Given the description of an element on the screen output the (x, y) to click on. 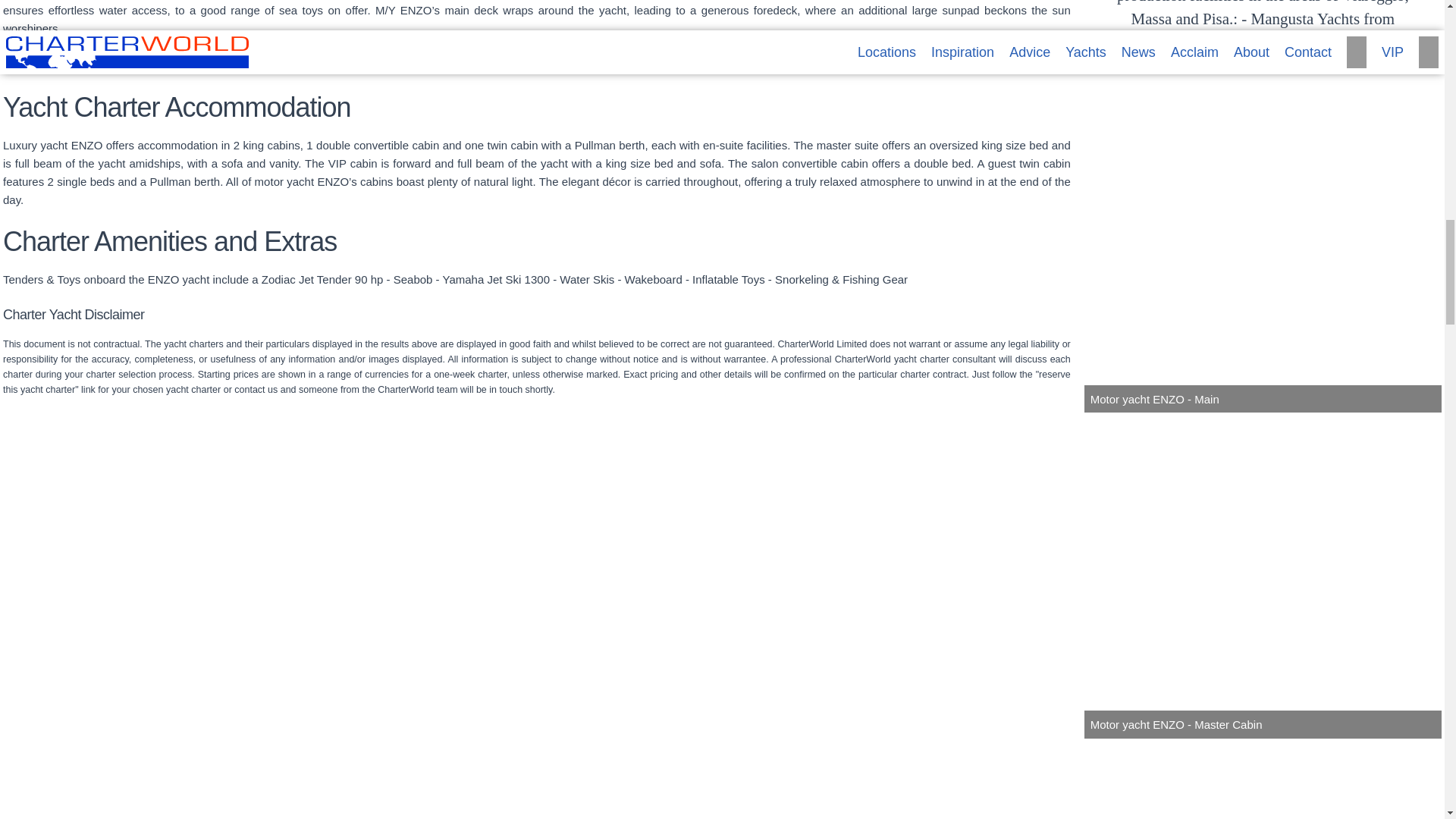
Motor yacht ENZO -  Main (1262, 251)
Motor yacht ENZO -  Main salon (180, 780)
Motor yacht ENZO -  Galley (901, 780)
Motor yacht ENZO -  Lower Salon convertable to Double (541, 780)
Motor yacht ENZO -  Master Cabin (1262, 576)
Motor yacht ENZO -  VIP Cabin (1262, 780)
